Given the description of an element on the screen output the (x, y) to click on. 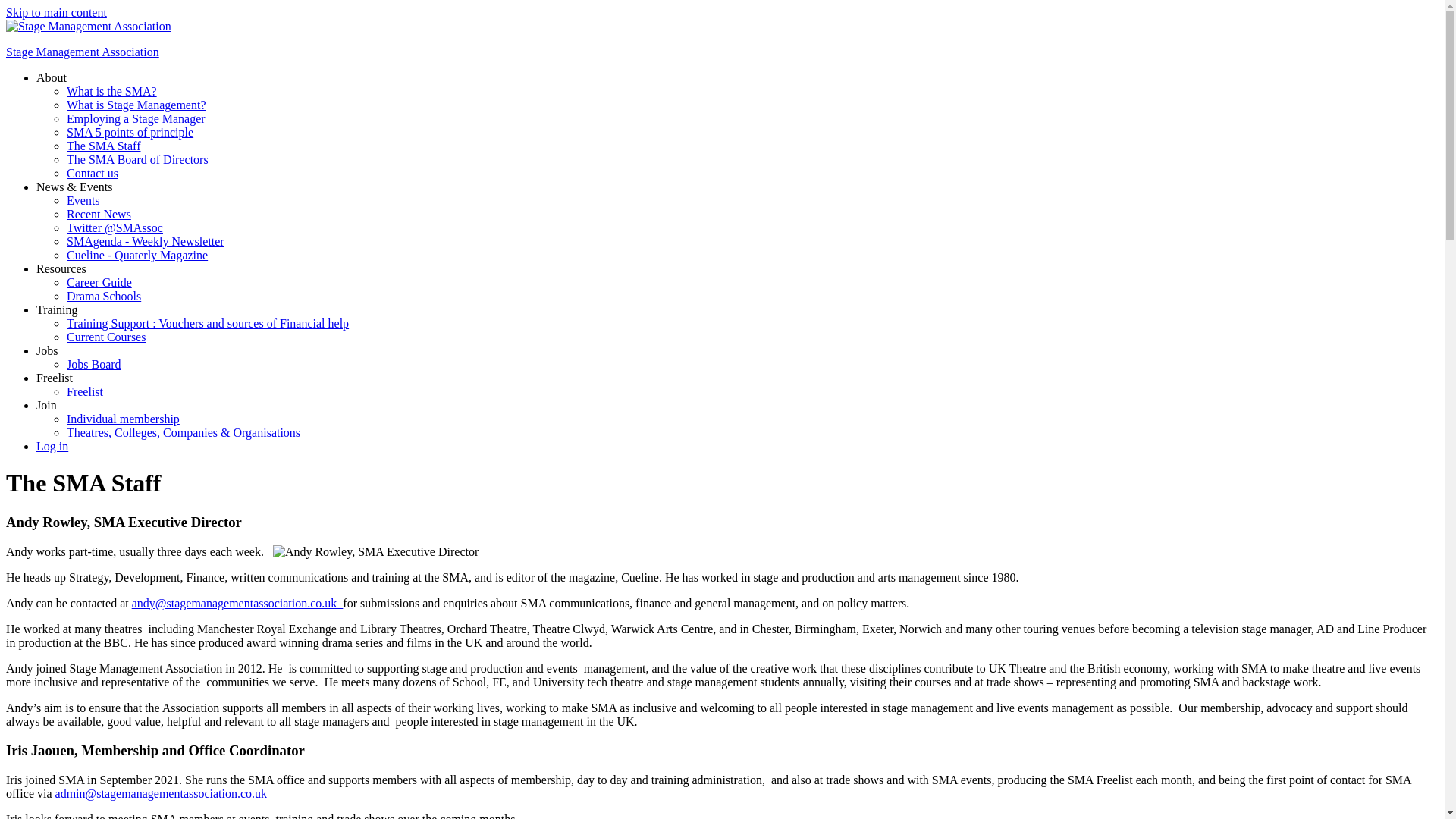
Drama Schools (103, 295)
SMA 5 points of principle (129, 132)
Individual membership (122, 418)
Log in (52, 445)
The SMA Staff (102, 145)
Employing a Stage Manager (135, 118)
Freelist (84, 391)
Jobs Board (93, 364)
Contact us (91, 173)
What is the SMA? (111, 91)
Career Guide (99, 282)
Stage Management Association (81, 51)
Training Support : Vouchers and sources of Financial help (207, 323)
Cueline - Quaterly Magazine (137, 254)
Home (88, 26)
